Given the description of an element on the screen output the (x, y) to click on. 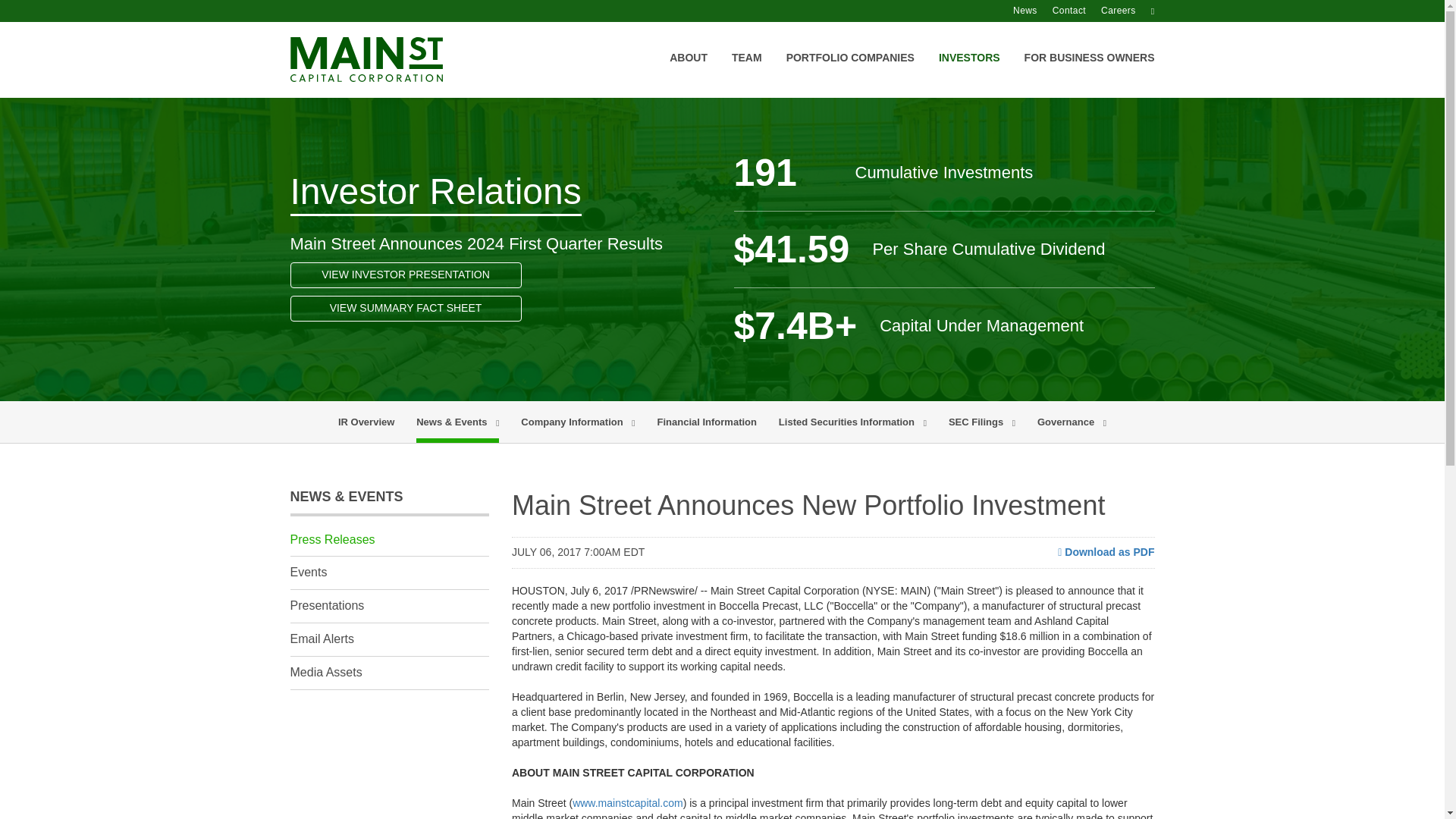
PORTFOLIO COMPANIES (850, 73)
PDF: Main Street Announces New Portfolio Investment (1106, 552)
FOR BUSINESS OWNERS (1089, 73)
Contact (1076, 10)
TEAM (746, 73)
News (1032, 10)
Careers (1125, 10)
ABOUT (688, 73)
INVESTORS (968, 73)
